Given the description of an element on the screen output the (x, y) to click on. 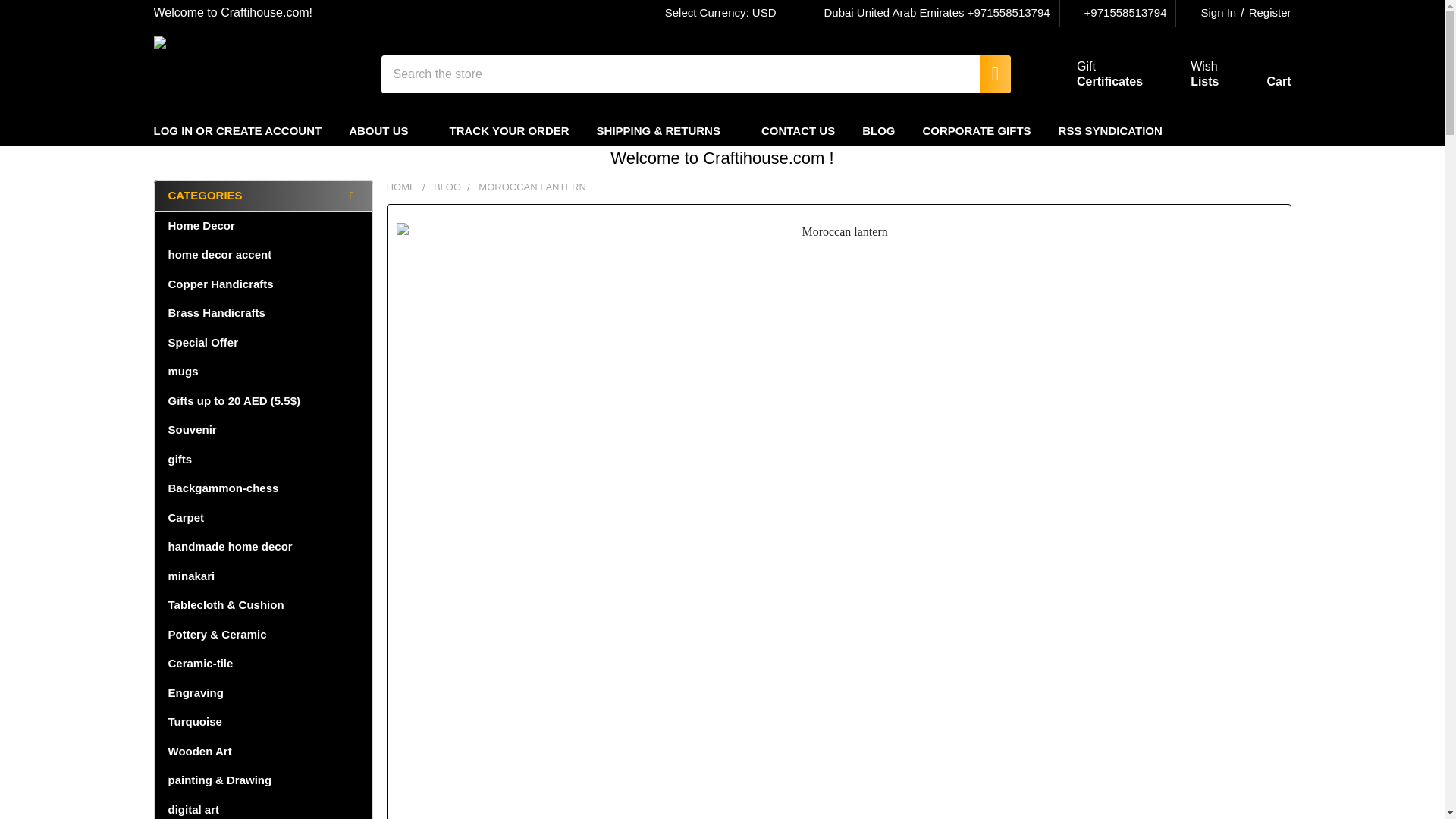
Search (727, 13)
Cart (986, 74)
Cart (1260, 77)
Register (1260, 77)
Search (1091, 73)
Gift Certificates (1186, 73)
Wish Lists (1265, 13)
